Given the description of an element on the screen output the (x, y) to click on. 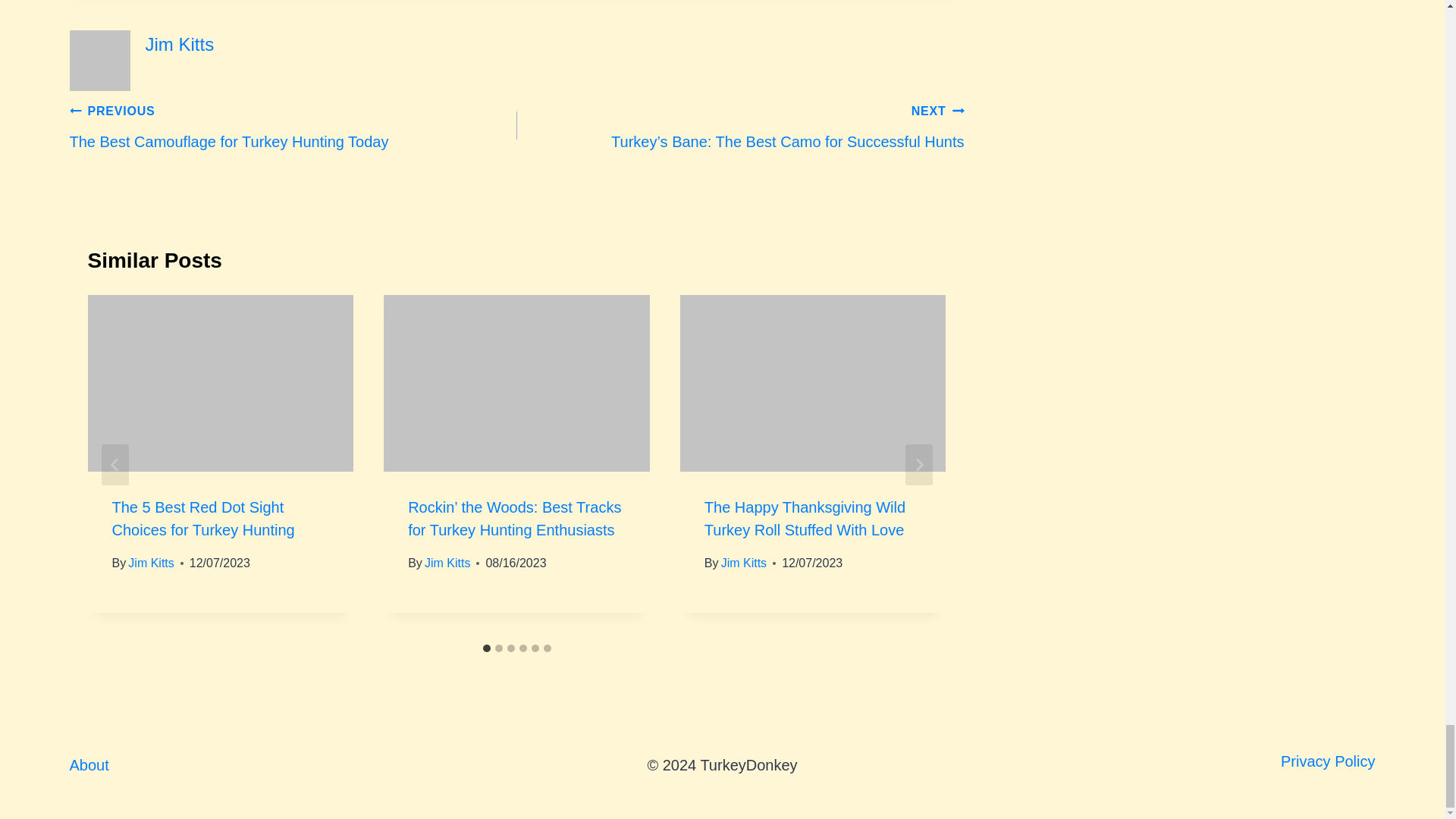
The Happy Thanksgiving Wild Turkey Roll Stuffed With Love 11 (812, 383)
The 5 Best Red Dot Sight Choices for Turkey Hunting 3 (220, 383)
Posts by Jim Kitts (179, 44)
